Given the description of an element on the screen output the (x, y) to click on. 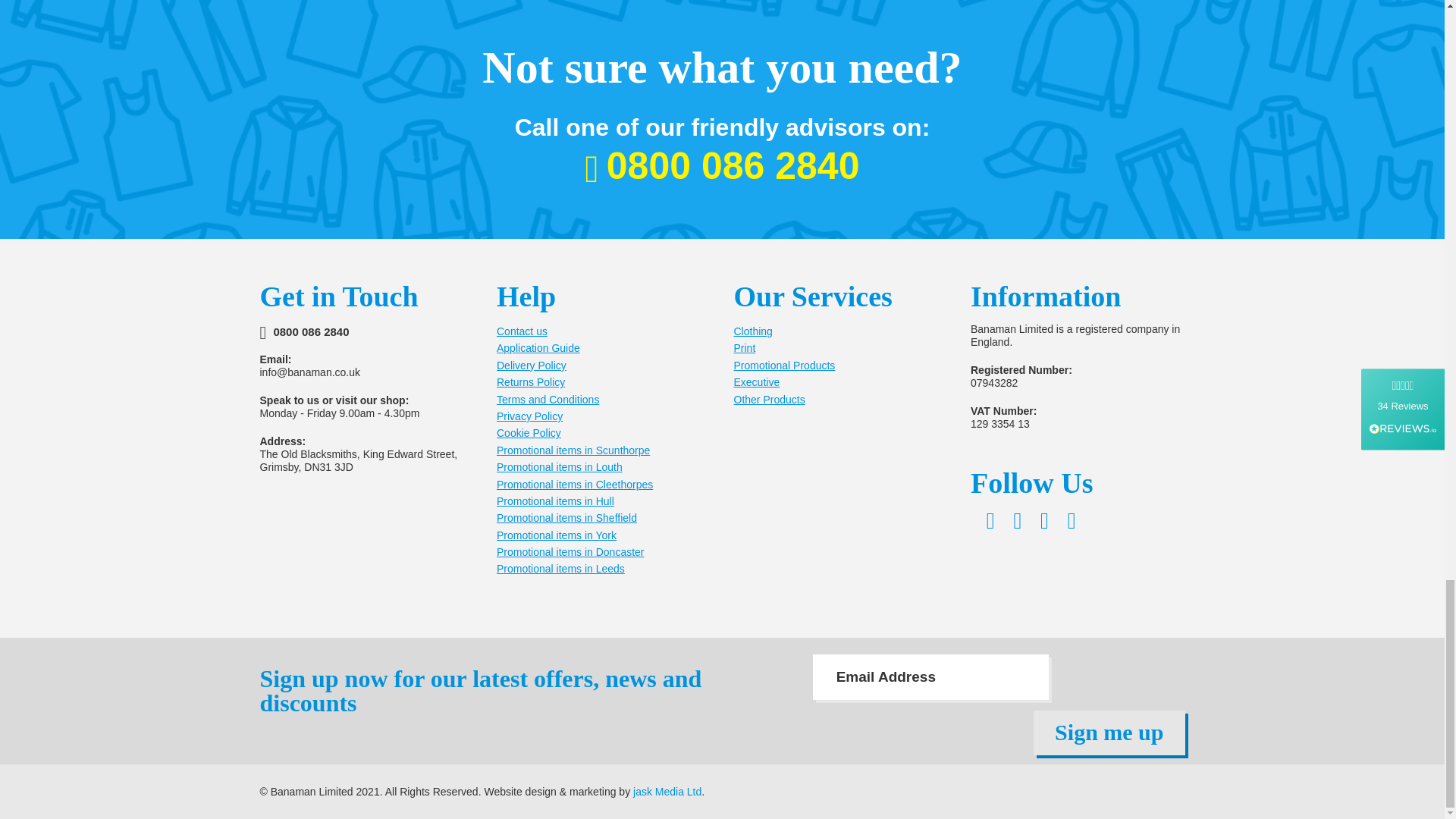
Sign me up (1109, 732)
